Given the description of an element on the screen output the (x, y) to click on. 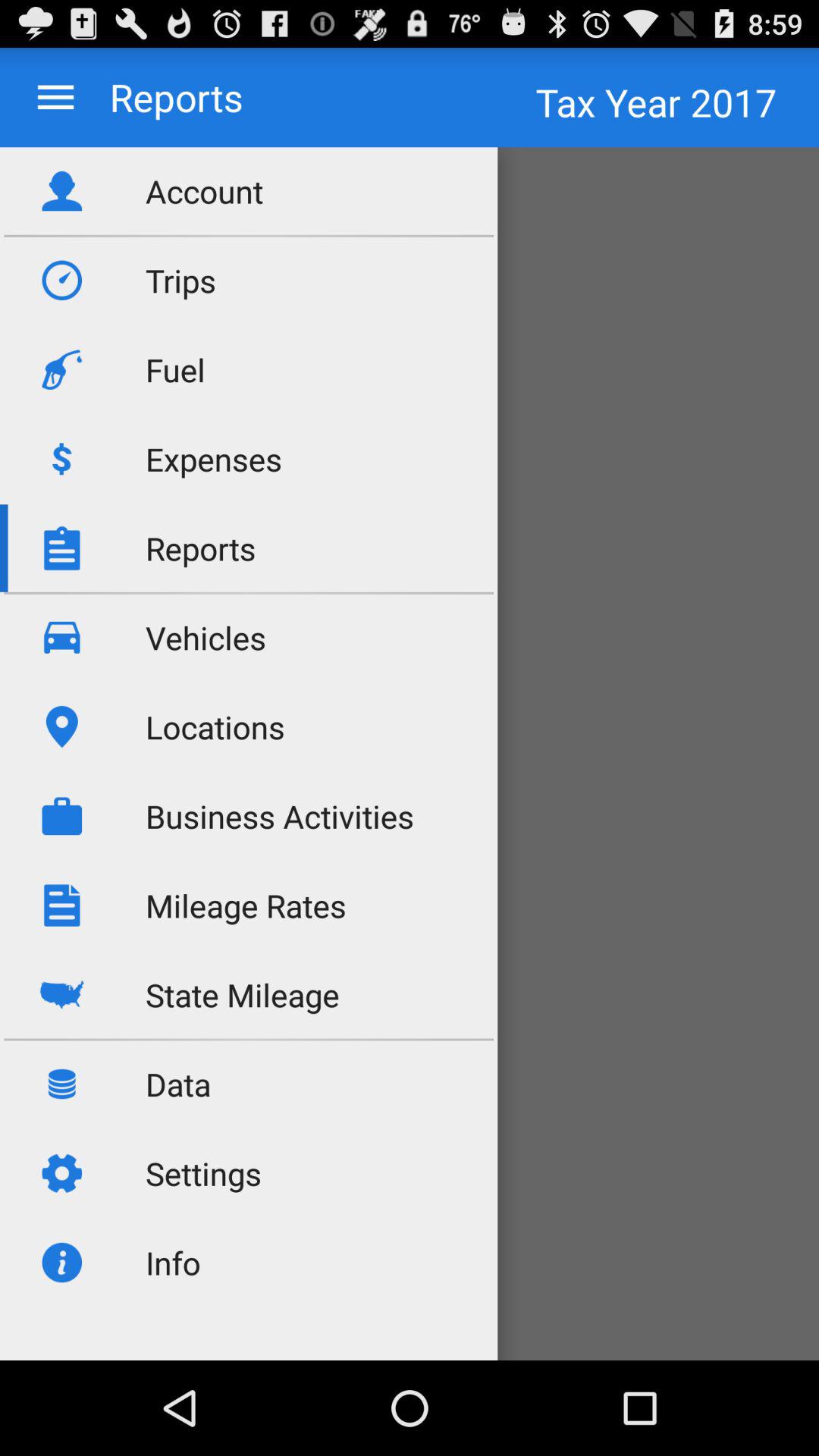
scroll to the mileage rates item (245, 905)
